Given the description of an element on the screen output the (x, y) to click on. 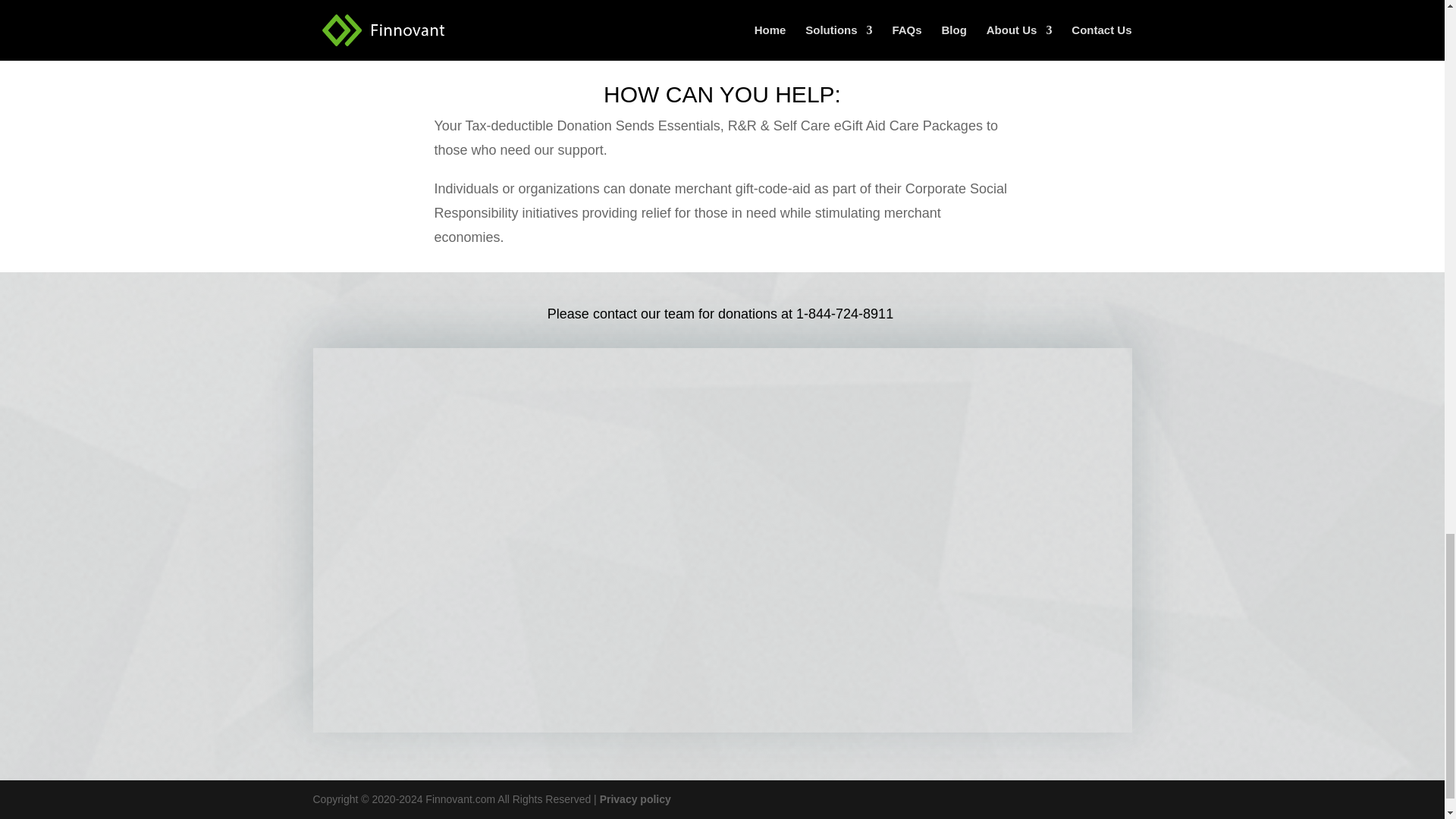
Privacy policy (635, 799)
